Given the description of an element on the screen output the (x, y) to click on. 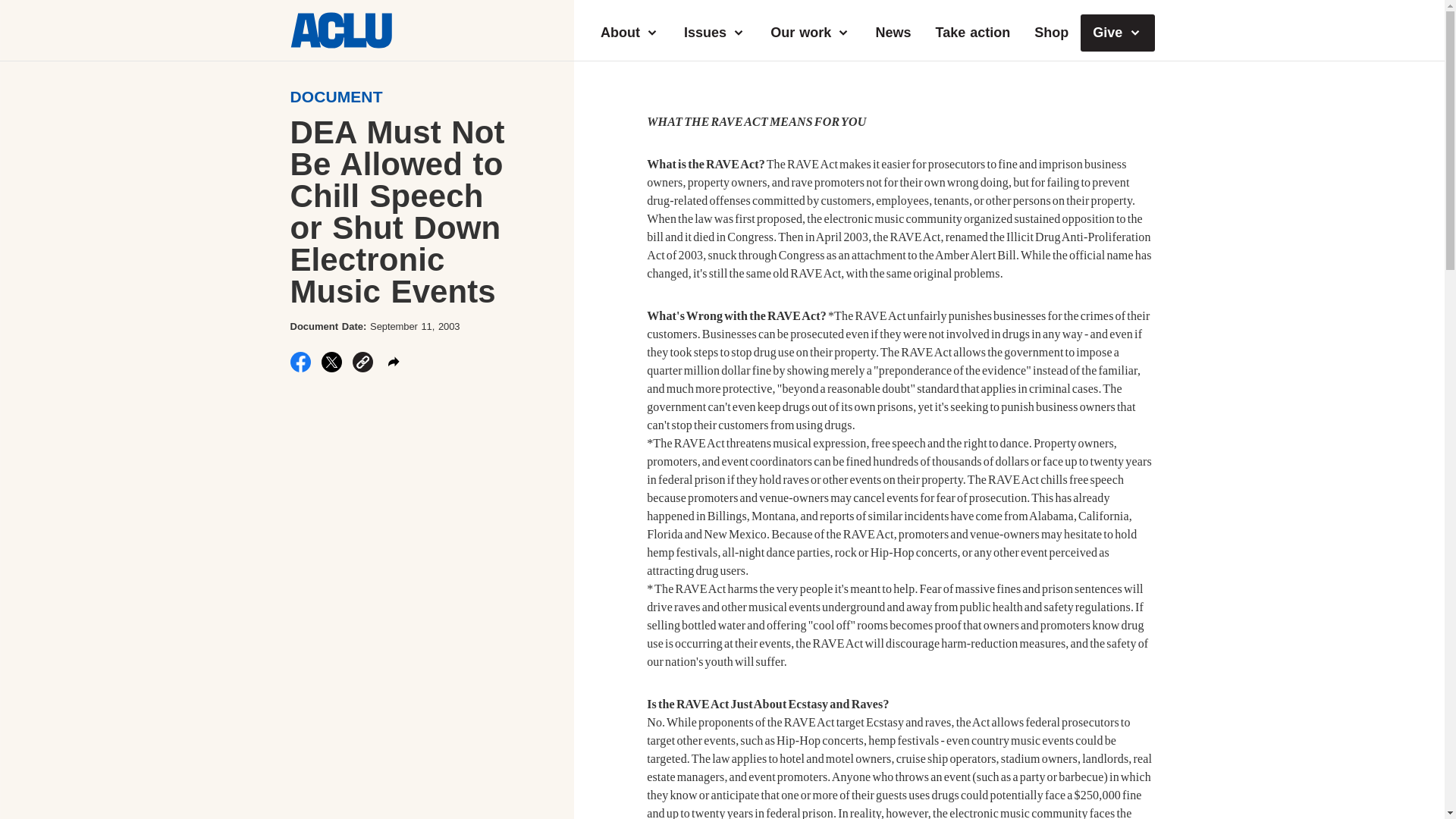
About (629, 32)
ACLU.org (340, 43)
Issues (714, 32)
